Given the description of an element on the screen output the (x, y) to click on. 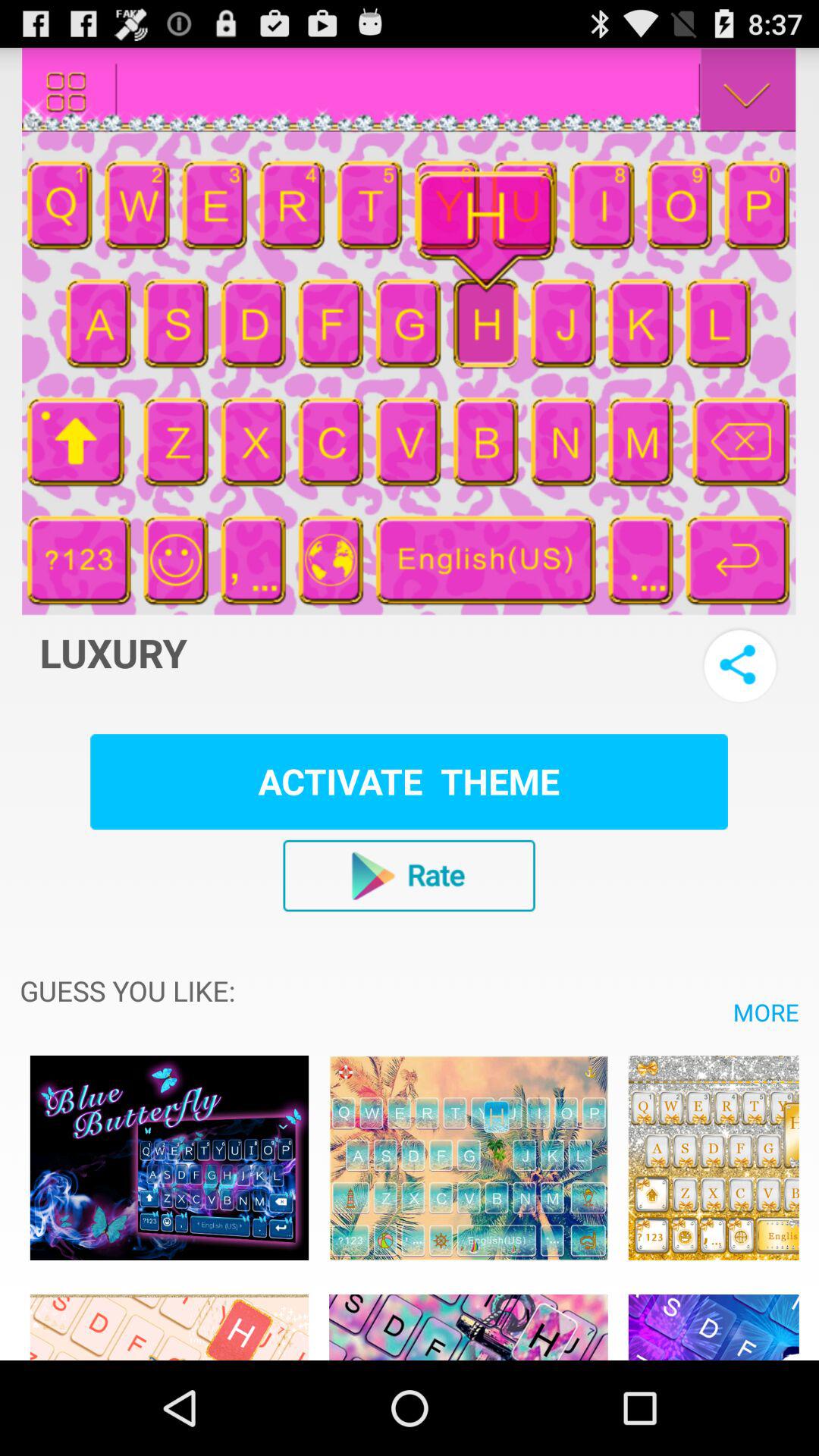
select image (169, 1318)
